Given the description of an element on the screen output the (x, y) to click on. 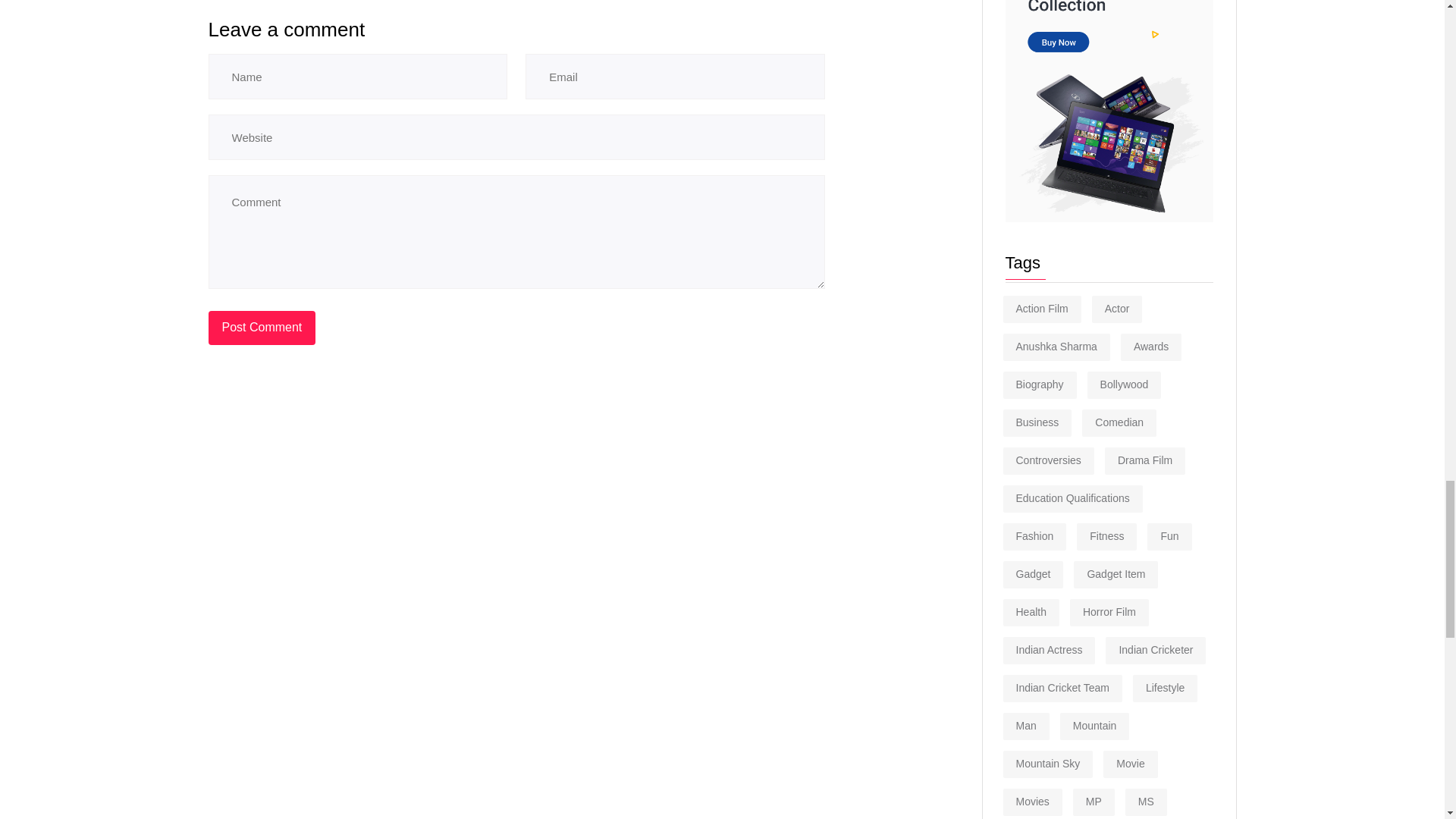
Post Comment (261, 327)
